Given the description of an element on the screen output the (x, y) to click on. 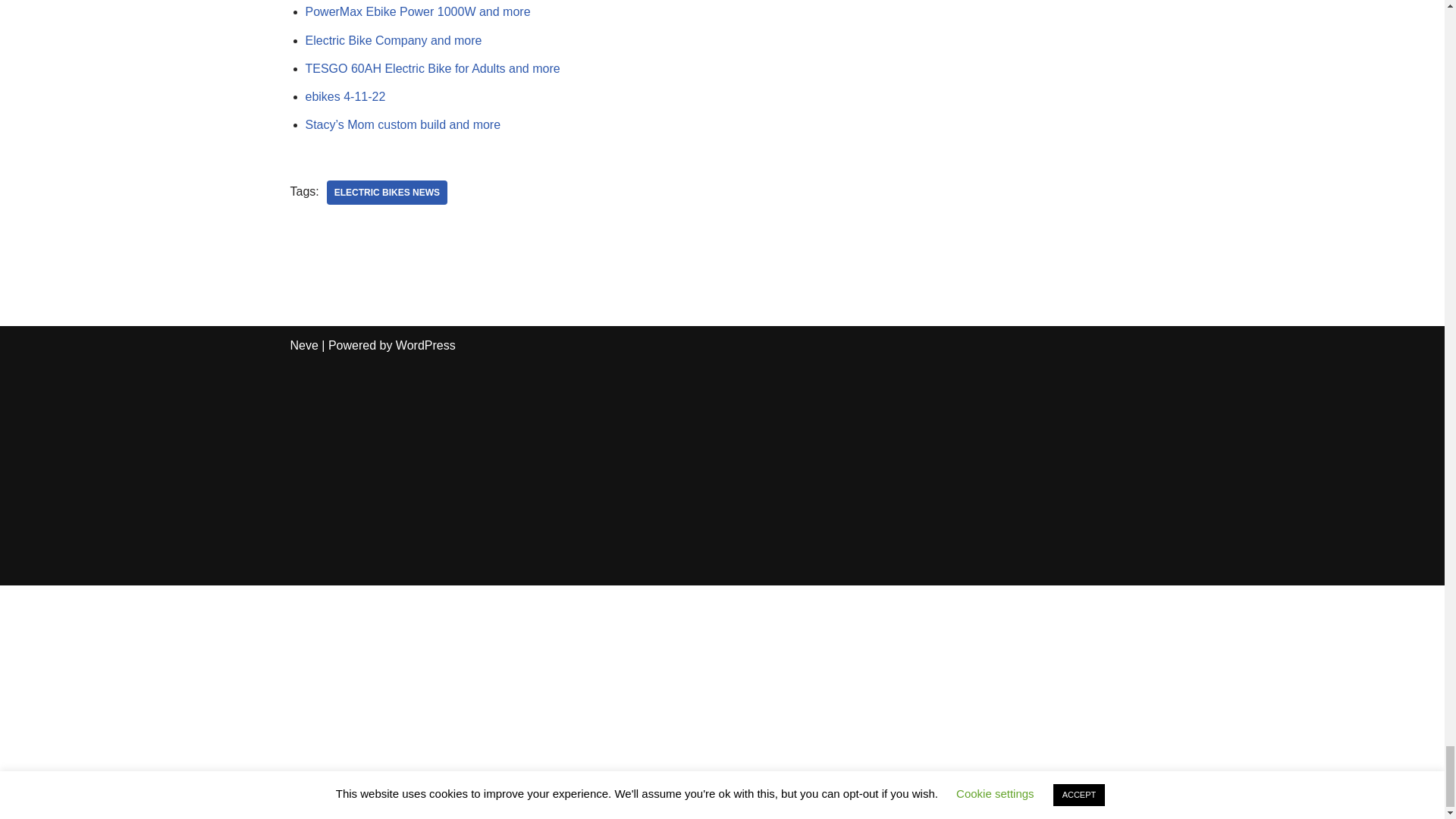
ELECTRIC BIKES NEWS (386, 192)
ebikes 4-11-22 (344, 96)
TESGO 60AH Electric Bike for Adults and more (431, 68)
Electric Bike Company and more (392, 40)
PowerMax Ebike Power 1000W and more (416, 11)
